Given the description of an element on the screen output the (x, y) to click on. 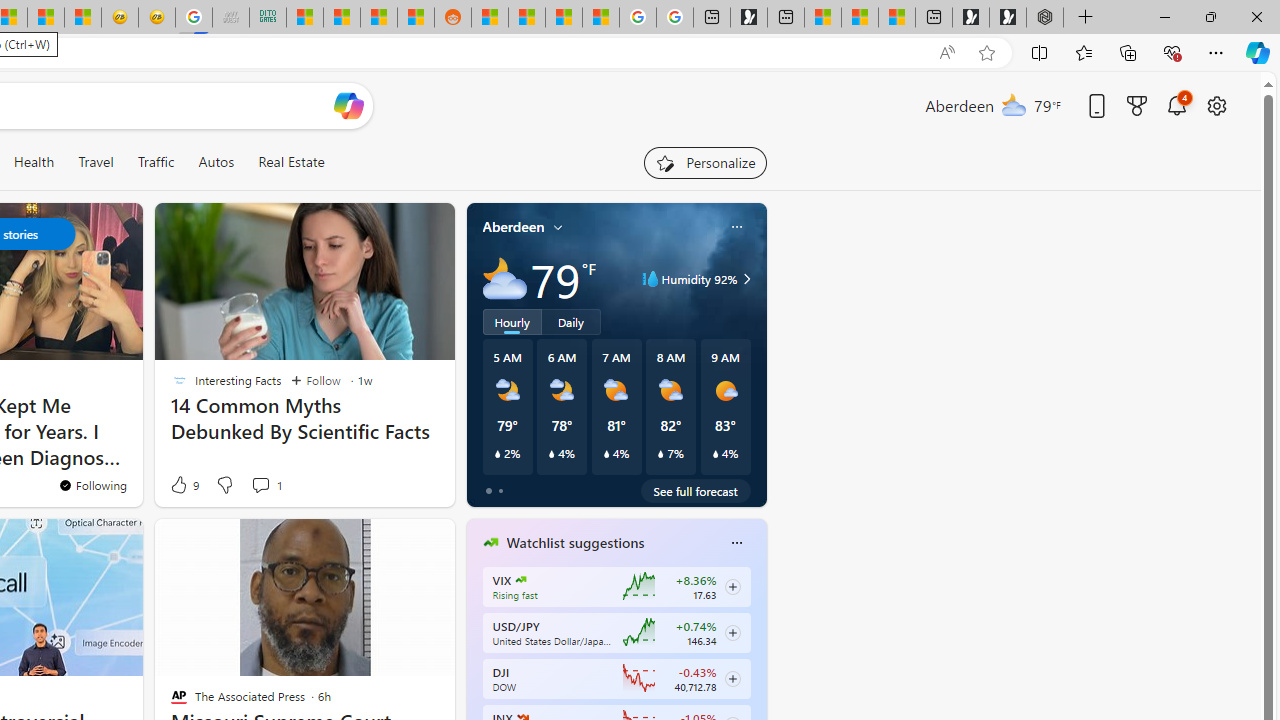
Travel (95, 162)
Traffic (155, 161)
9 Like (183, 484)
tab-1 (500, 490)
tab-0 (488, 490)
Class: weather-current-precipitation-glyph (715, 453)
